Given the description of an element on the screen output the (x, y) to click on. 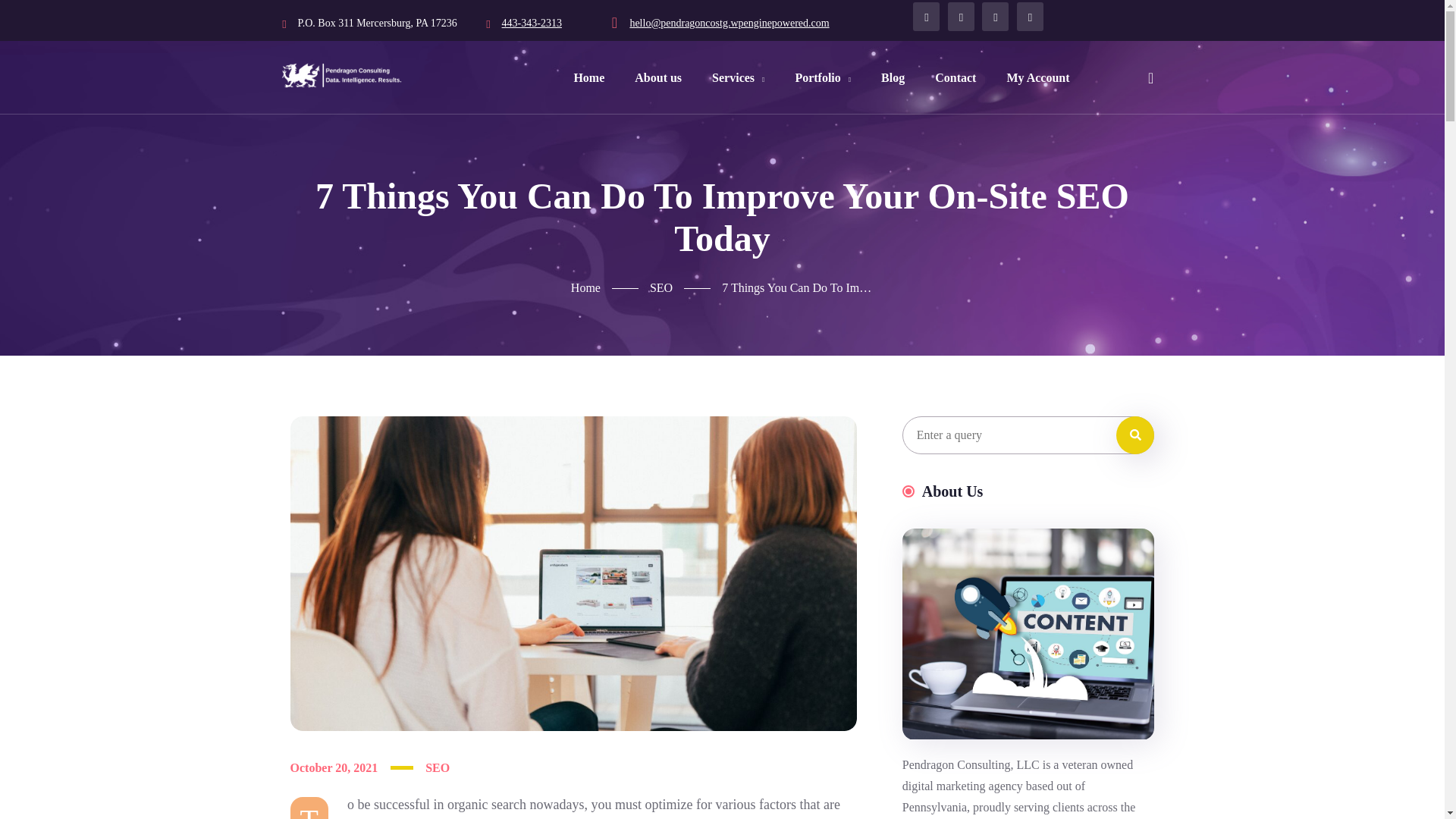
SEO (437, 767)
About us (658, 76)
443-343-2313 (532, 22)
SEO (685, 288)
443-343-2313 (532, 22)
My Account (1037, 76)
Services (738, 76)
Portfolio (822, 76)
Home (609, 288)
